Given the description of an element on the screen output the (x, y) to click on. 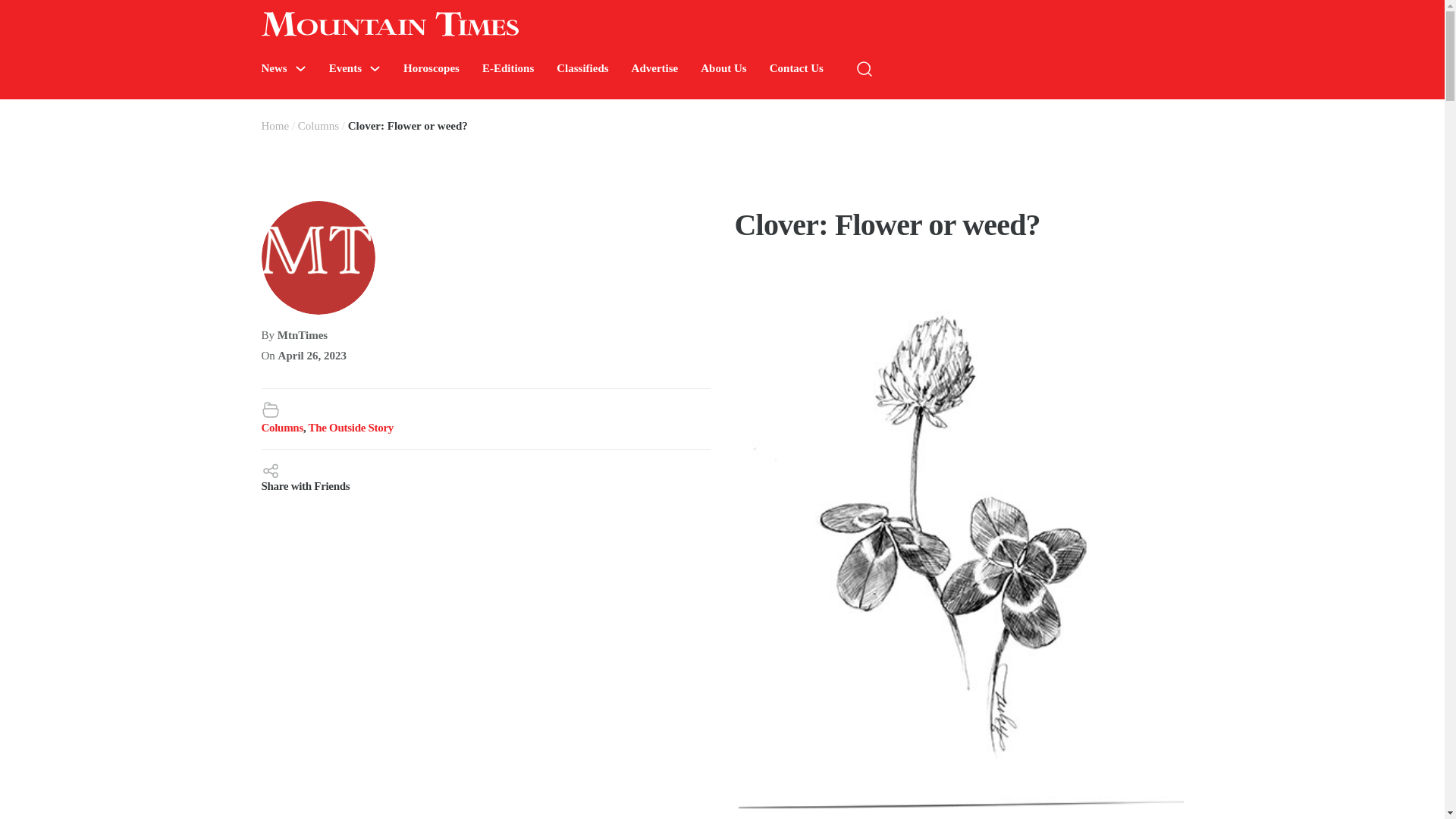
E-Editions (507, 67)
Classifieds (582, 67)
Home (274, 125)
Columns (318, 125)
The Outside Story (350, 427)
Events (345, 67)
Share with Friends (485, 476)
Contact Us (797, 67)
Columns (281, 427)
Search (1274, 114)
About Us (722, 67)
News (273, 67)
Horoscopes (431, 67)
Advertise (654, 67)
MtnTimes (302, 335)
